Given the description of an element on the screen output the (x, y) to click on. 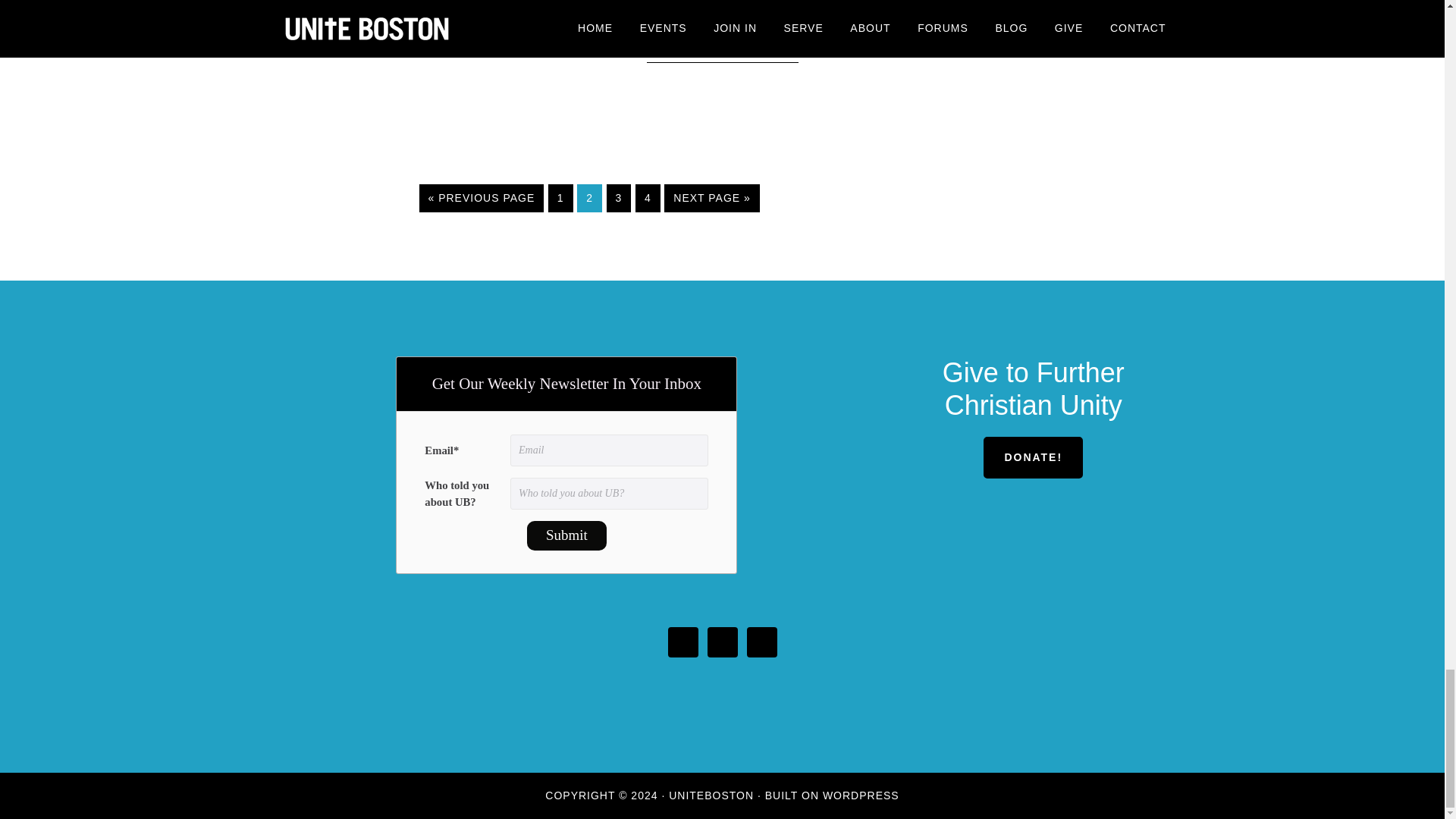
Genesis Framework (860, 795)
Submit (567, 535)
